Given the description of an element on the screen output the (x, y) to click on. 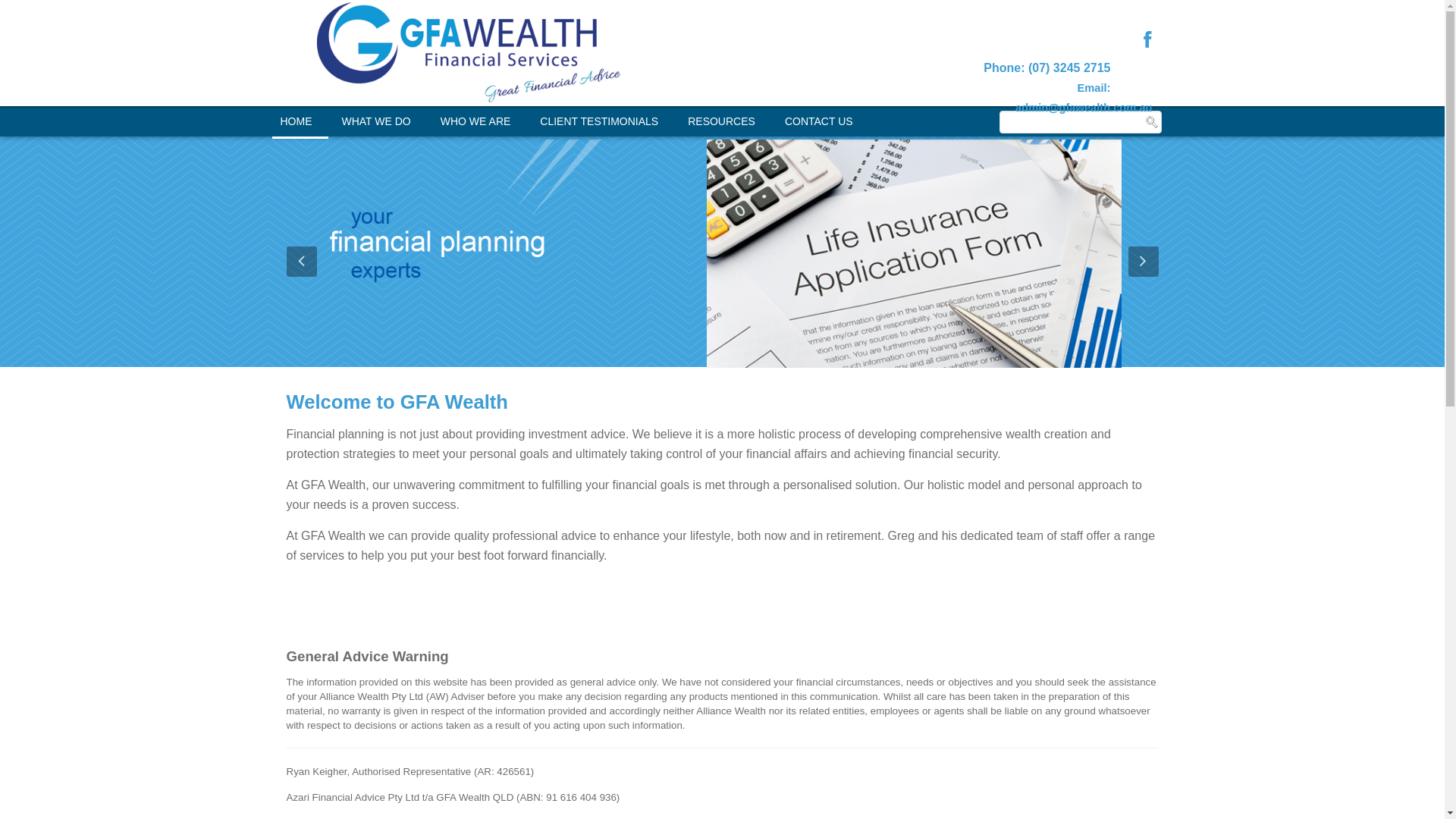
admin@gfawealth.com.au Element type: text (1083, 107)
WHAT WE DO Element type: text (375, 121)
Welcome to GFA Wealth Element type: text (397, 401)
HOME Element type: text (296, 121)
CLIENT TESTIMONIALS Element type: text (598, 121)
WHO WE ARE Element type: text (475, 121)
CONTACT US Element type: text (818, 121)
RESOURCES Element type: text (721, 121)
